Given the description of an element on the screen output the (x, y) to click on. 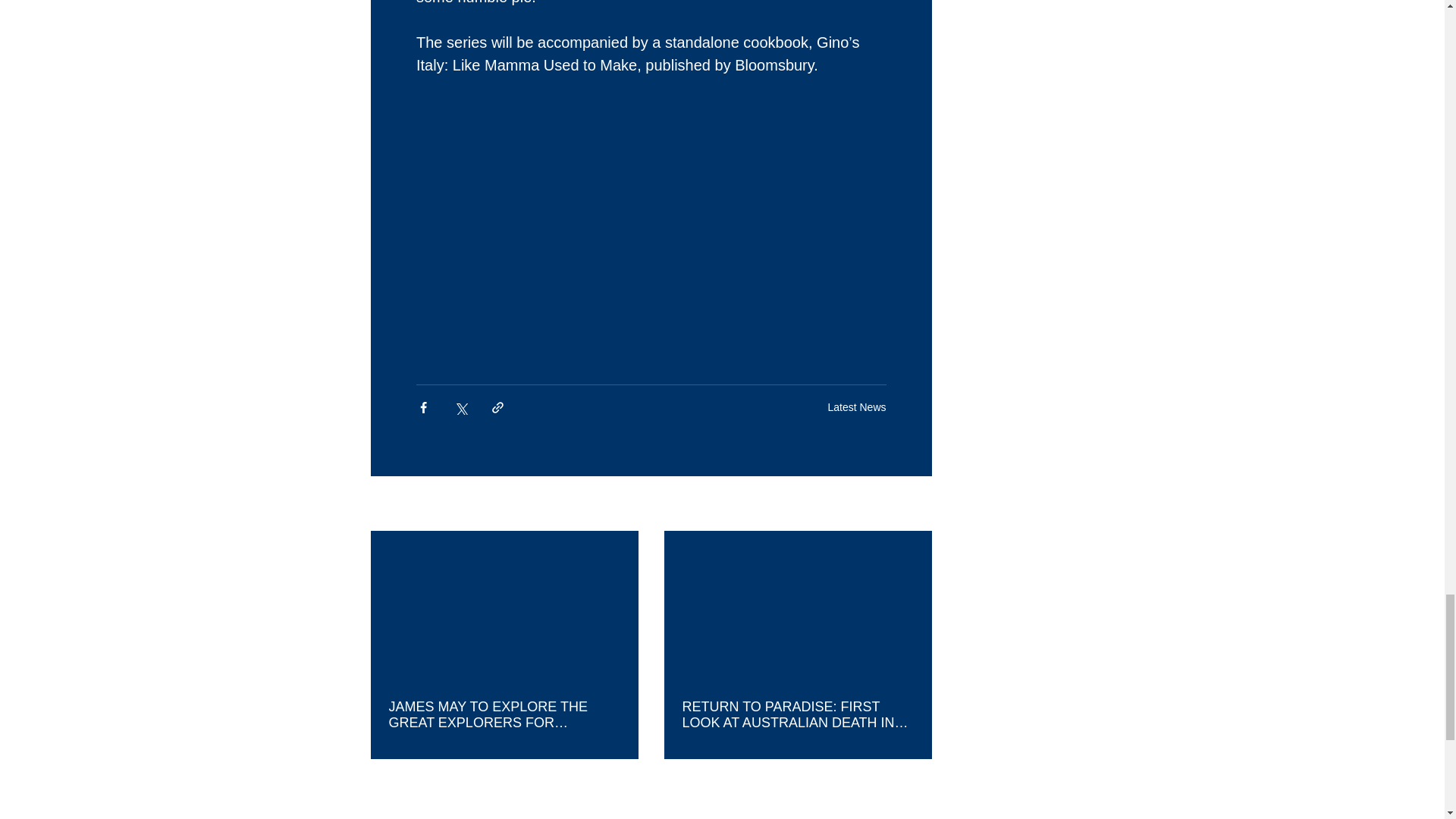
See All (914, 504)
Latest News (856, 407)
